Given the description of an element on the screen output the (x, y) to click on. 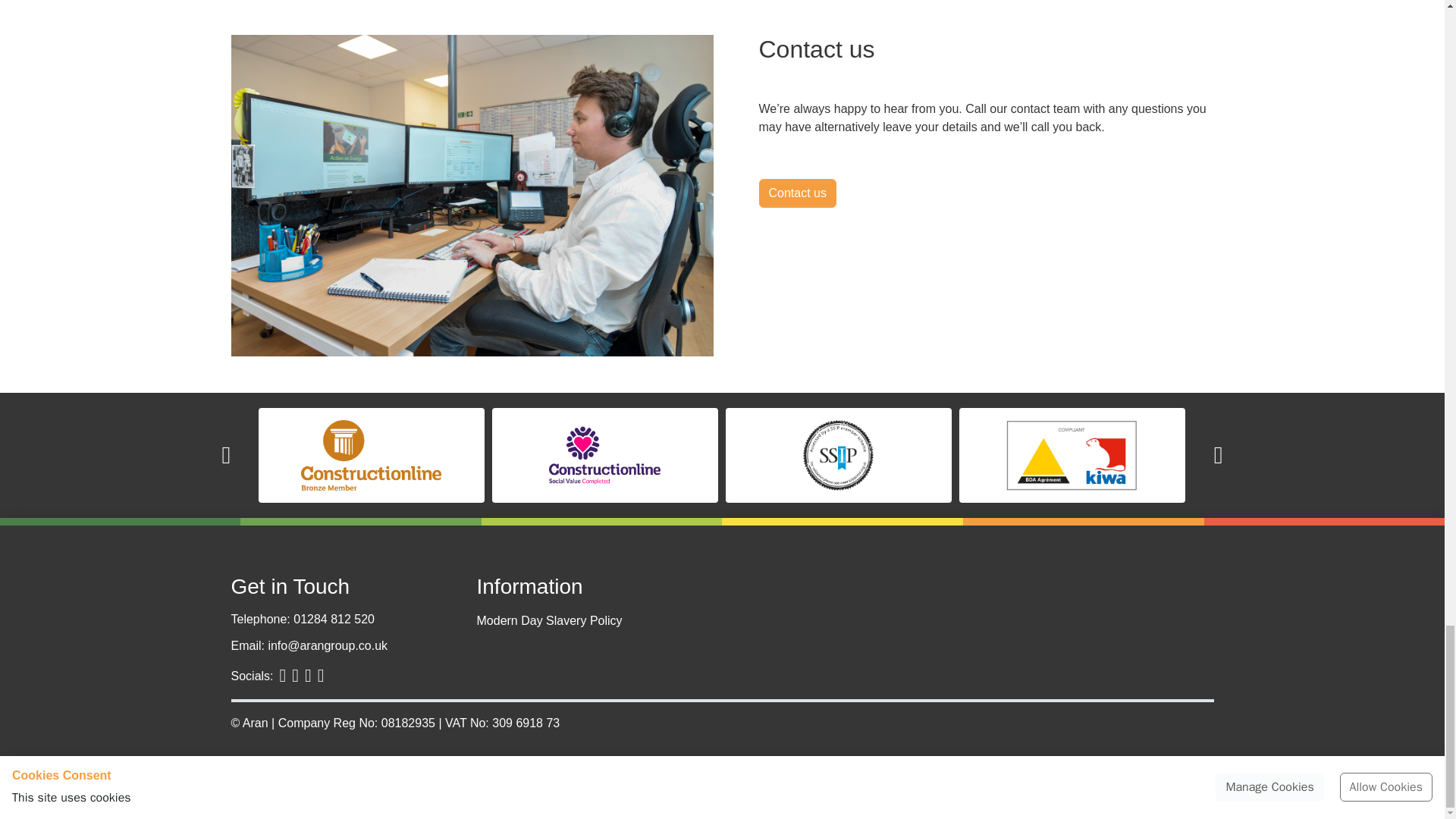
Telephone: 01284 812 520 (334, 621)
Kiwa (1071, 454)
Modern Day Slavery Policy (599, 620)
Contact us (796, 193)
Contact us (796, 193)
